Given the description of an element on the screen output the (x, y) to click on. 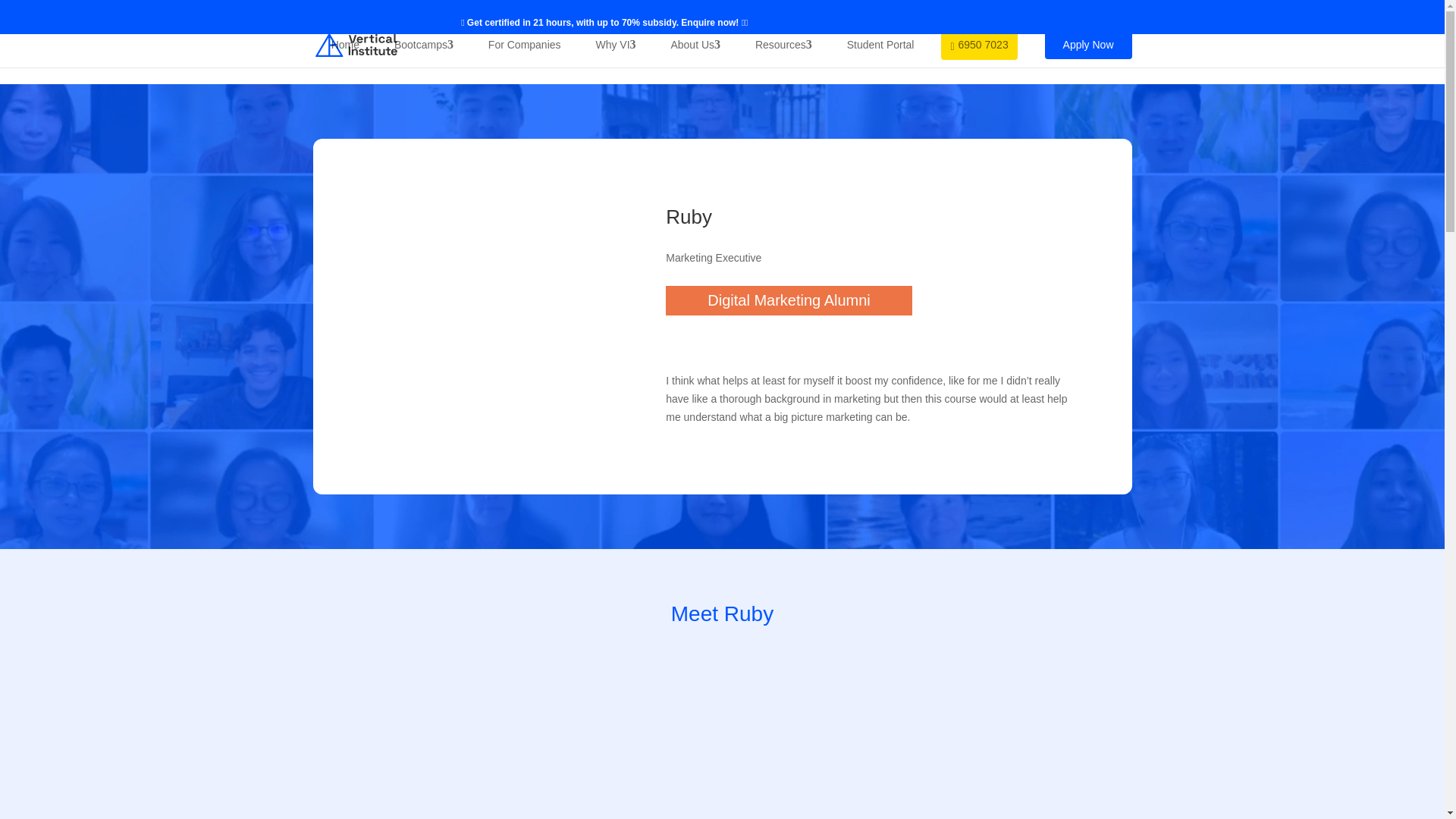
Resources (783, 44)
Ruby Marketing Executive Story - Vertical Institute (493, 316)
6950 7023 (978, 44)
About Us (695, 44)
For Companies (524, 44)
Bootcamps (424, 44)
Student Portal (880, 44)
quote (680, 342)
Home (344, 44)
Why VI (615, 44)
Apply Now (1088, 44)
